Given the description of an element on the screen output the (x, y) to click on. 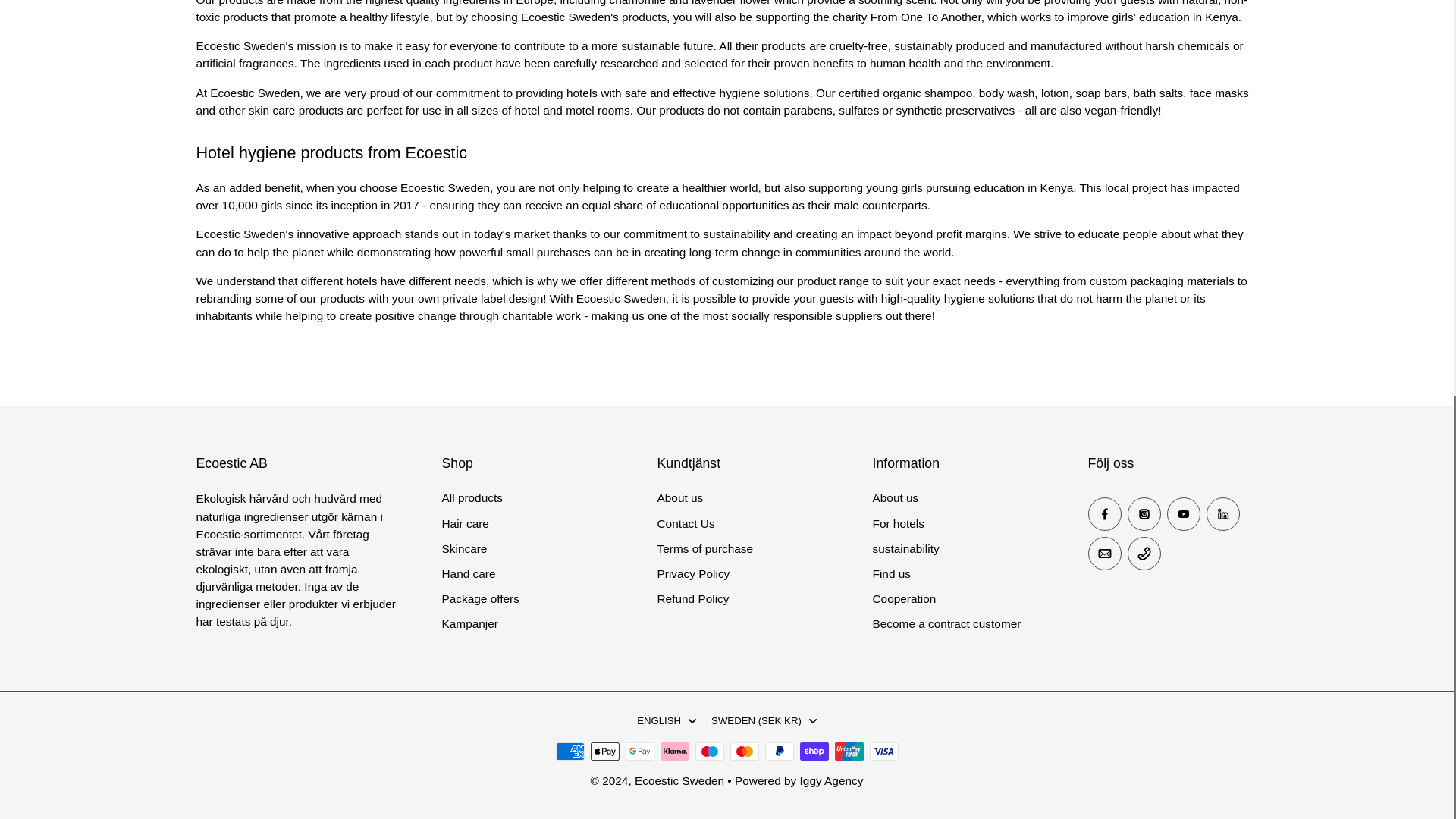
Hand care (468, 573)
All products (471, 497)
Kampanjer (469, 623)
Package offers (479, 598)
Skincare (463, 548)
Hair care (464, 523)
